Given the description of an element on the screen output the (x, y) to click on. 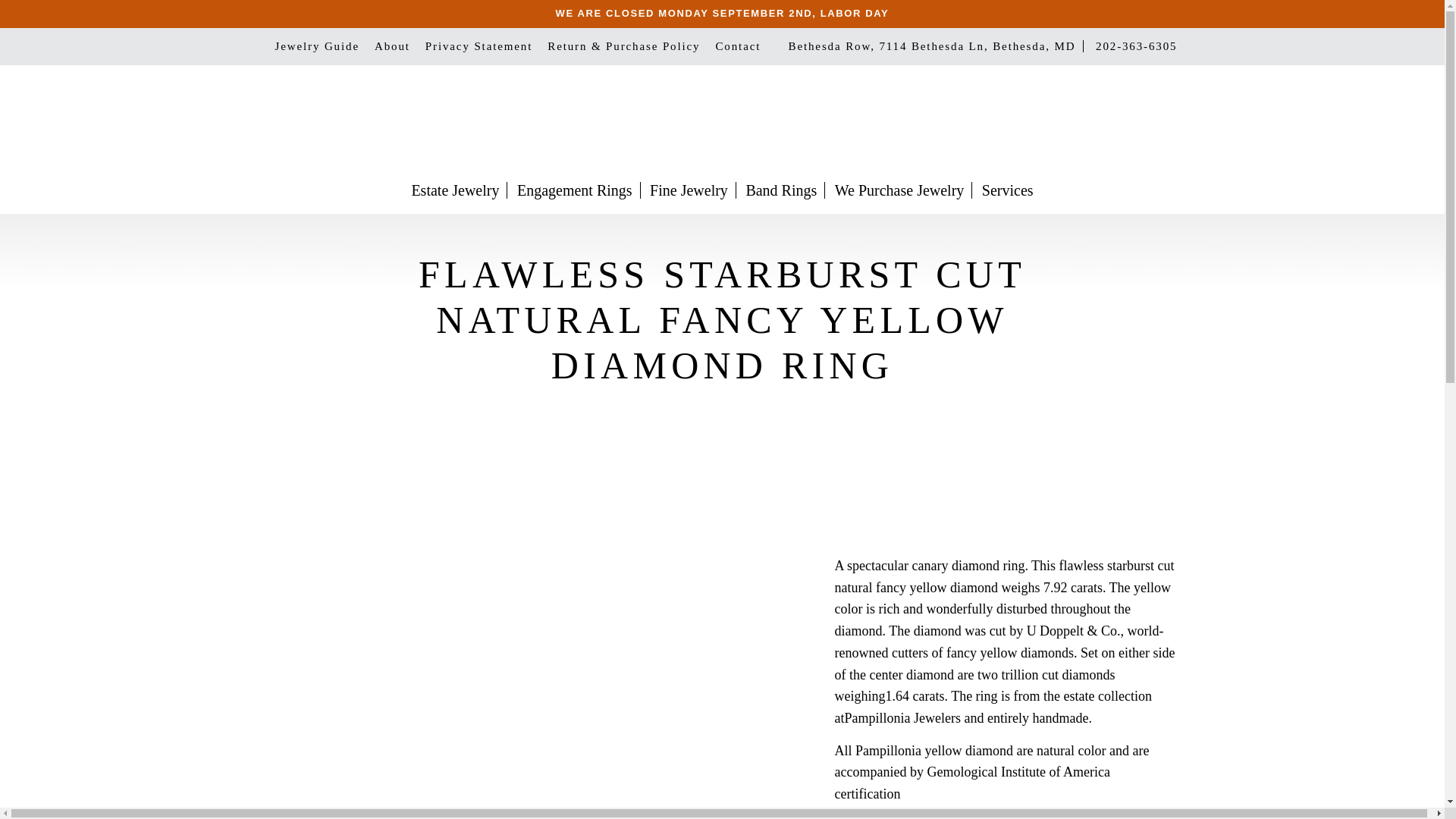
Fine Jewelry (688, 190)
Engagement Rings (574, 190)
About (391, 46)
Jewelry Guide (316, 46)
Estate Jewelry (454, 190)
We Purchase Jewelry (899, 190)
Band Rings (781, 190)
Search (1018, 119)
Services (1007, 190)
Favorite (1051, 119)
